Given the description of an element on the screen output the (x, y) to click on. 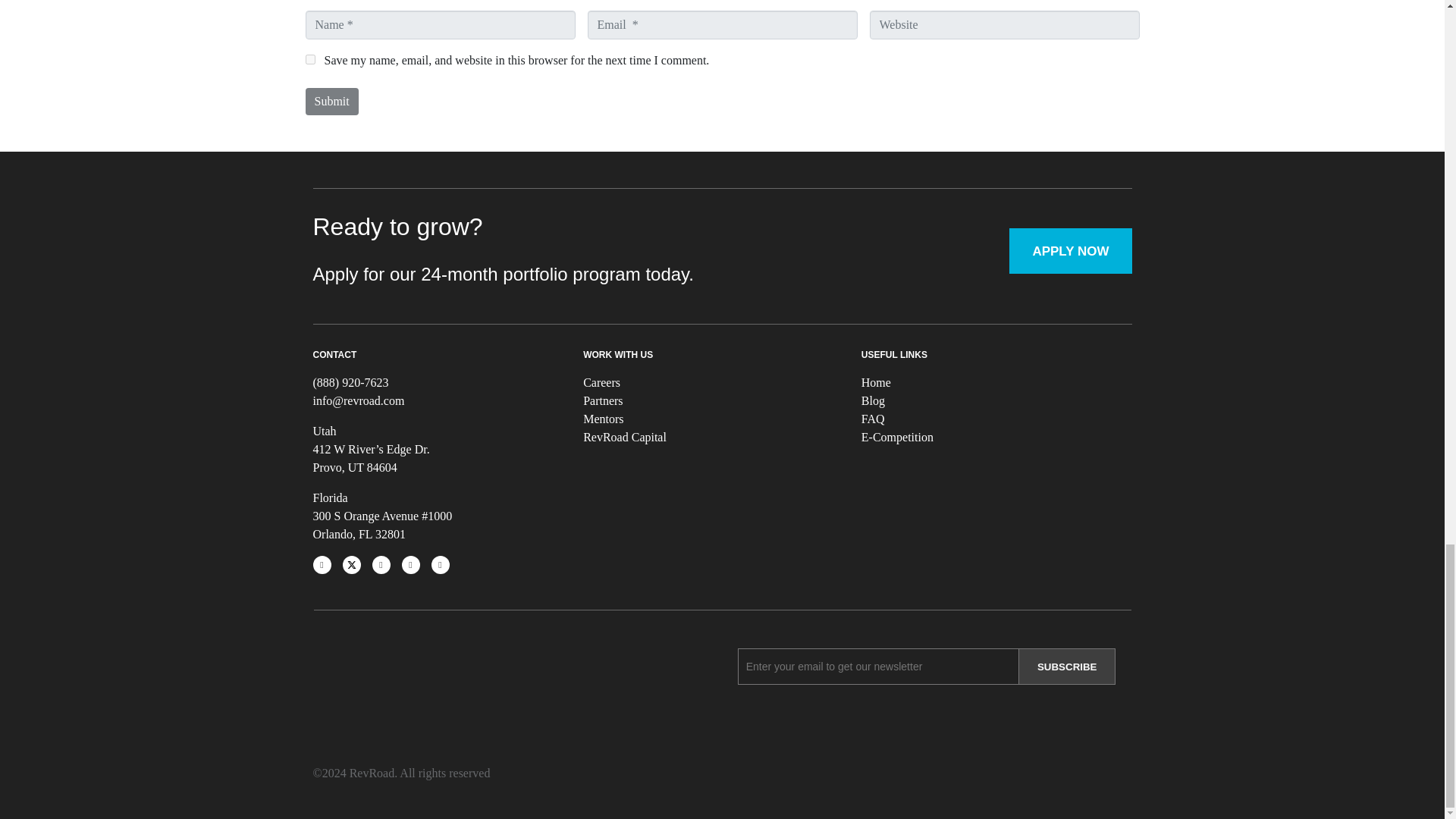
SUBSCRIBE (1067, 666)
yes (309, 59)
Group 54 (366, 692)
